Given the description of an element on the screen output the (x, y) to click on. 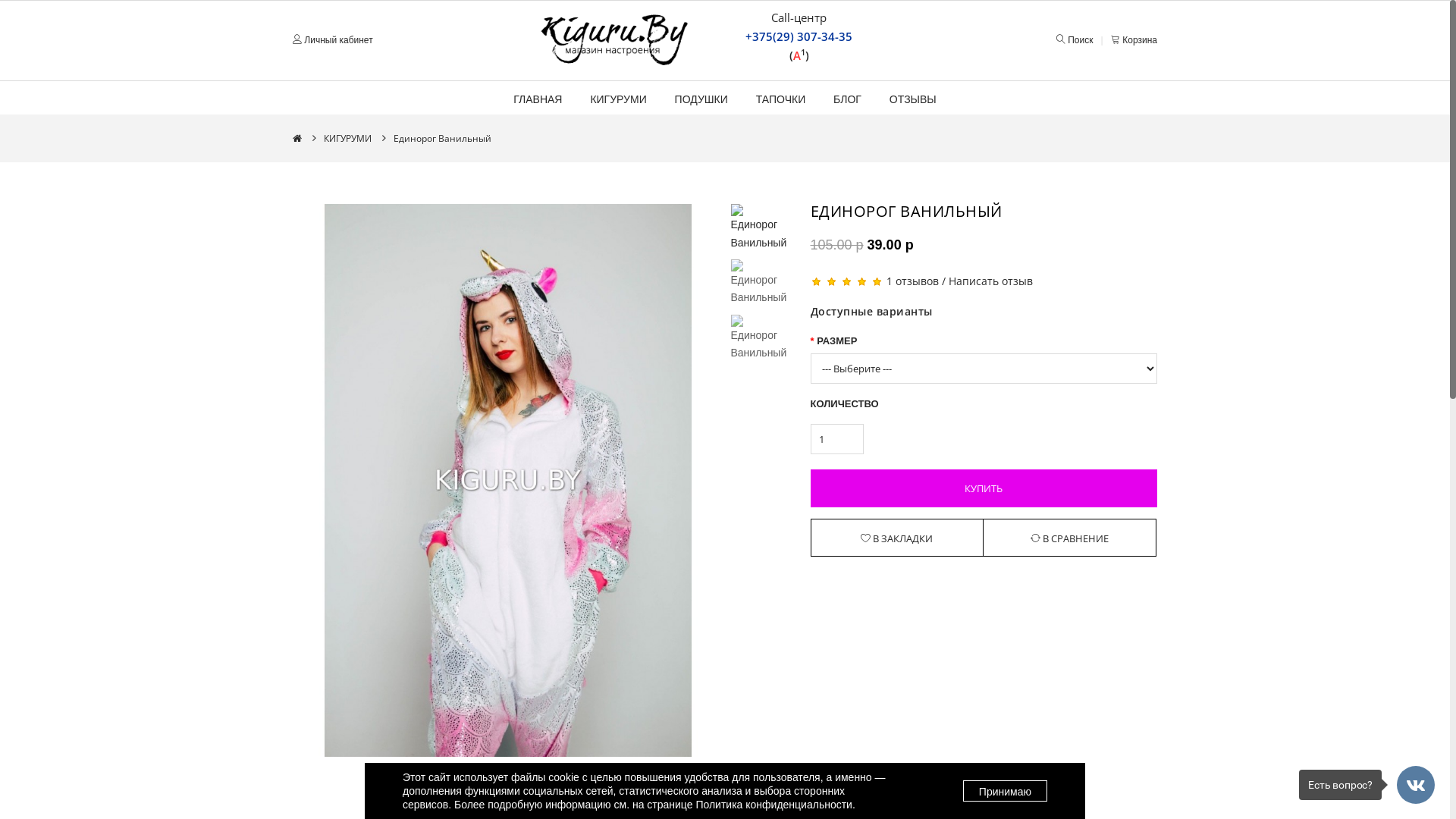
+375(29) 307-34-35 Element type: text (798, 35)
Back To Top Element type: hover (1415, 784)
